Given the description of an element on the screen output the (x, y) to click on. 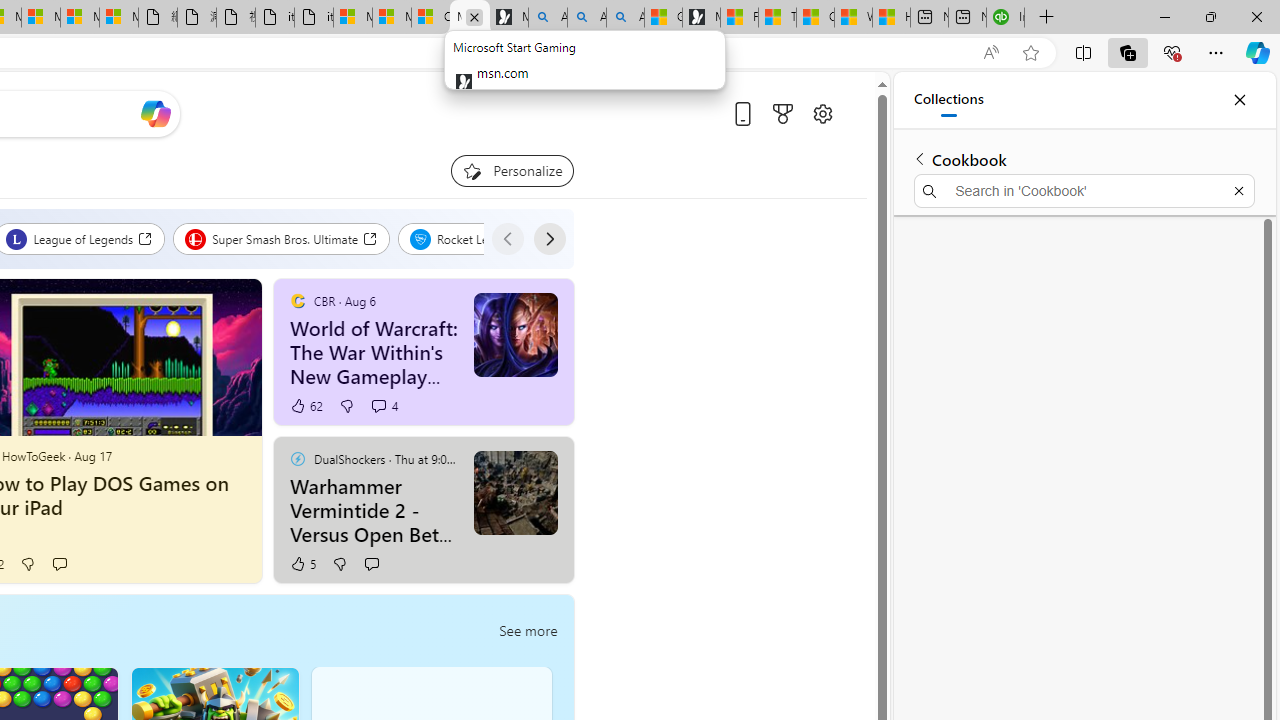
Back to list of collections (920, 158)
View comments 4 Comment (377, 405)
Personalize your feed" (511, 170)
Previous (507, 238)
5 Like (302, 564)
How to Use a TV as a Computer Monitor (891, 17)
Intuit QuickBooks Online - Quickbooks (1004, 17)
Exit search (1238, 190)
